Given the description of an element on the screen output the (x, y) to click on. 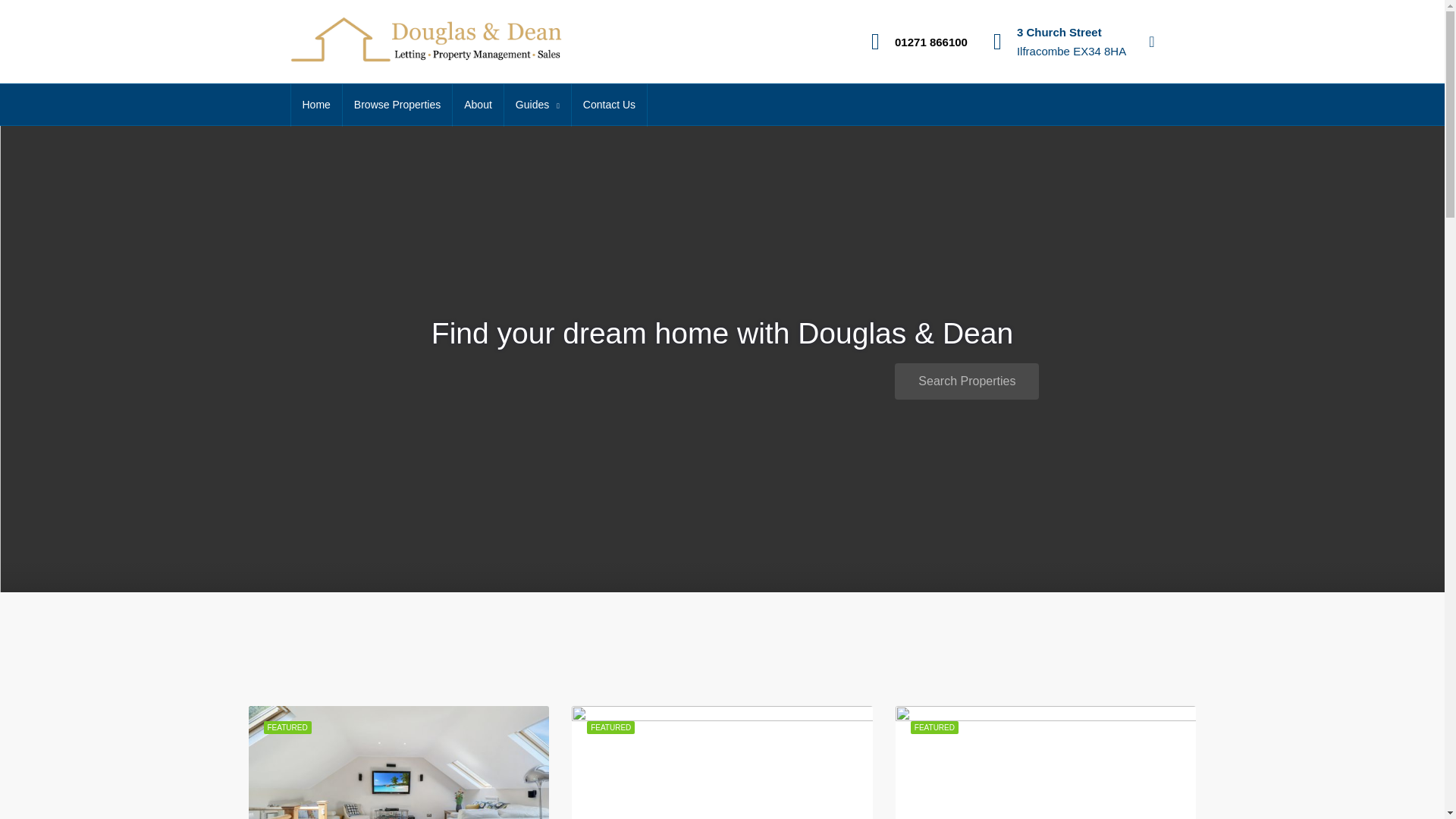
Contact Us (609, 104)
01271 866100 (931, 41)
Guides (536, 105)
Browse Properties (396, 104)
Search Properties (967, 381)
About (477, 104)
Home (316, 104)
